Given the description of an element on the screen output the (x, y) to click on. 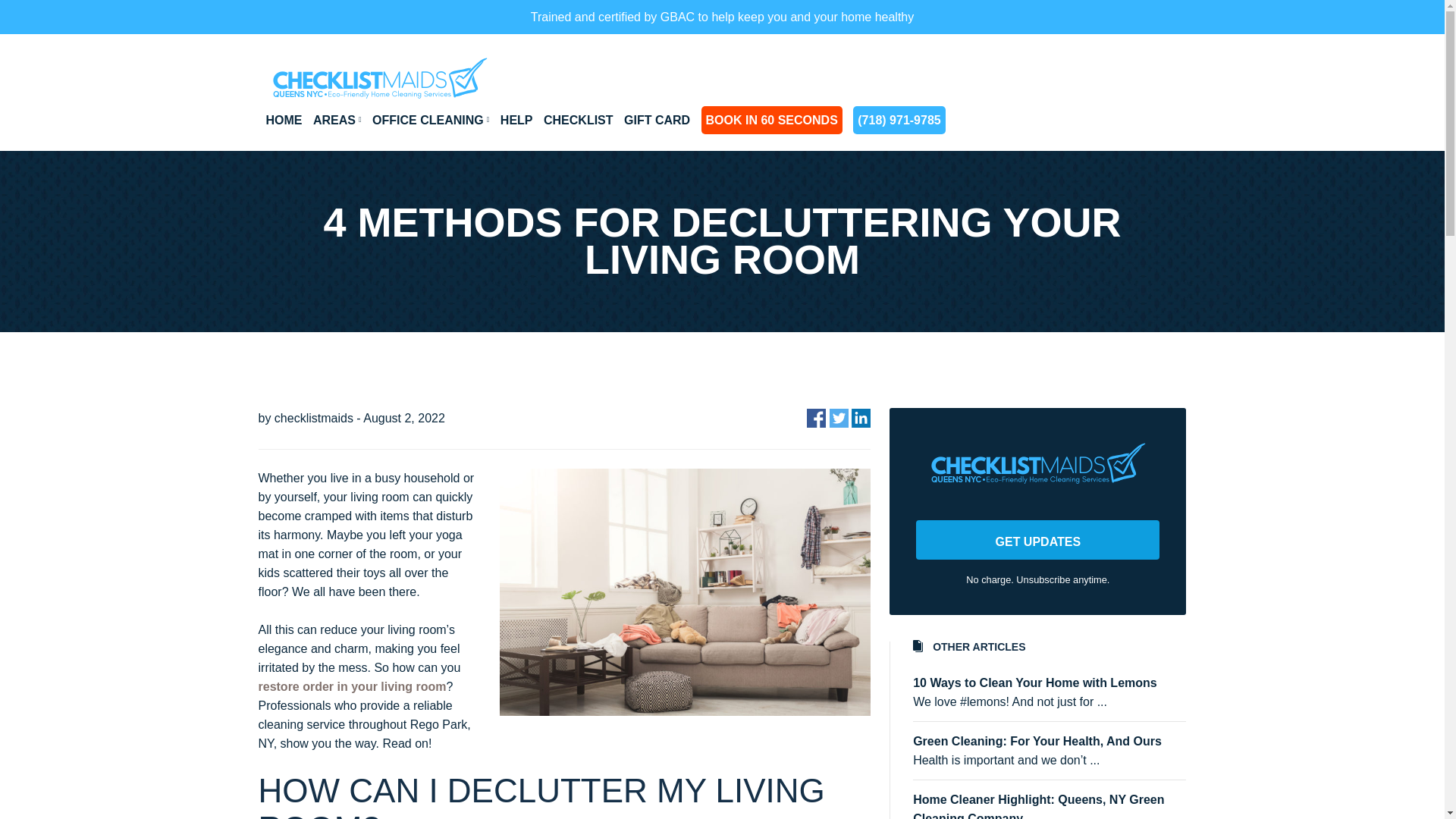
GIFT CARD (657, 119)
HELP (516, 119)
HOME (282, 119)
OFFICE CLEANING (430, 119)
GET UPDATES (1036, 539)
AREAS (337, 119)
BOOK IN 60 SECONDS (772, 119)
CHECKLIST (577, 119)
